Given the description of an element on the screen output the (x, y) to click on. 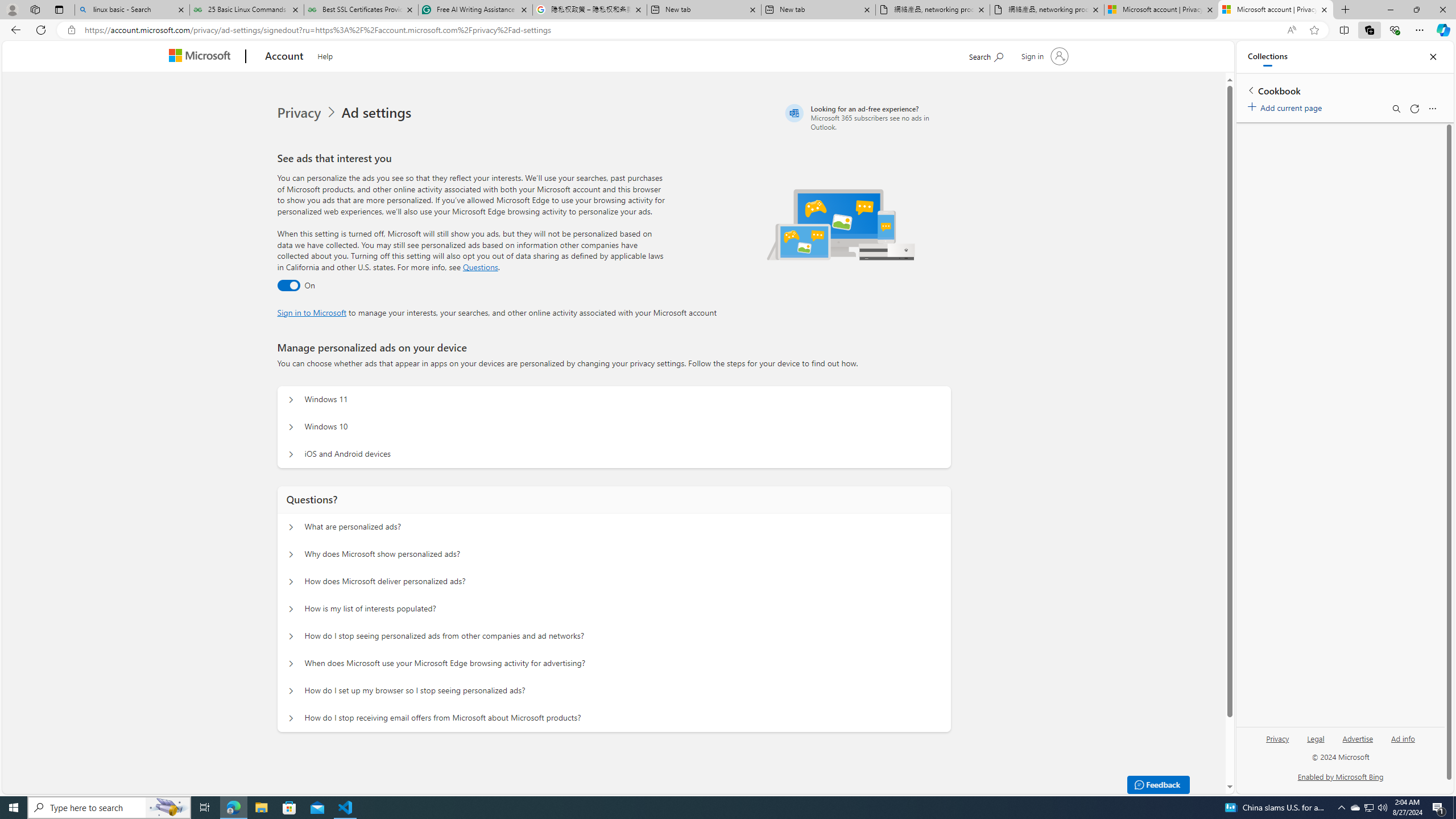
Add current page (1286, 105)
Looking for an ad-free experience? (865, 117)
Manage personalized ads on your device Windows 10 (290, 427)
Ad settings toggle (287, 285)
Legal (1315, 742)
Search Microsoft.com (986, 54)
Illustration of multiple devices (840, 224)
Help (325, 54)
Ad info (1402, 738)
